Given the description of an element on the screen output the (x, y) to click on. 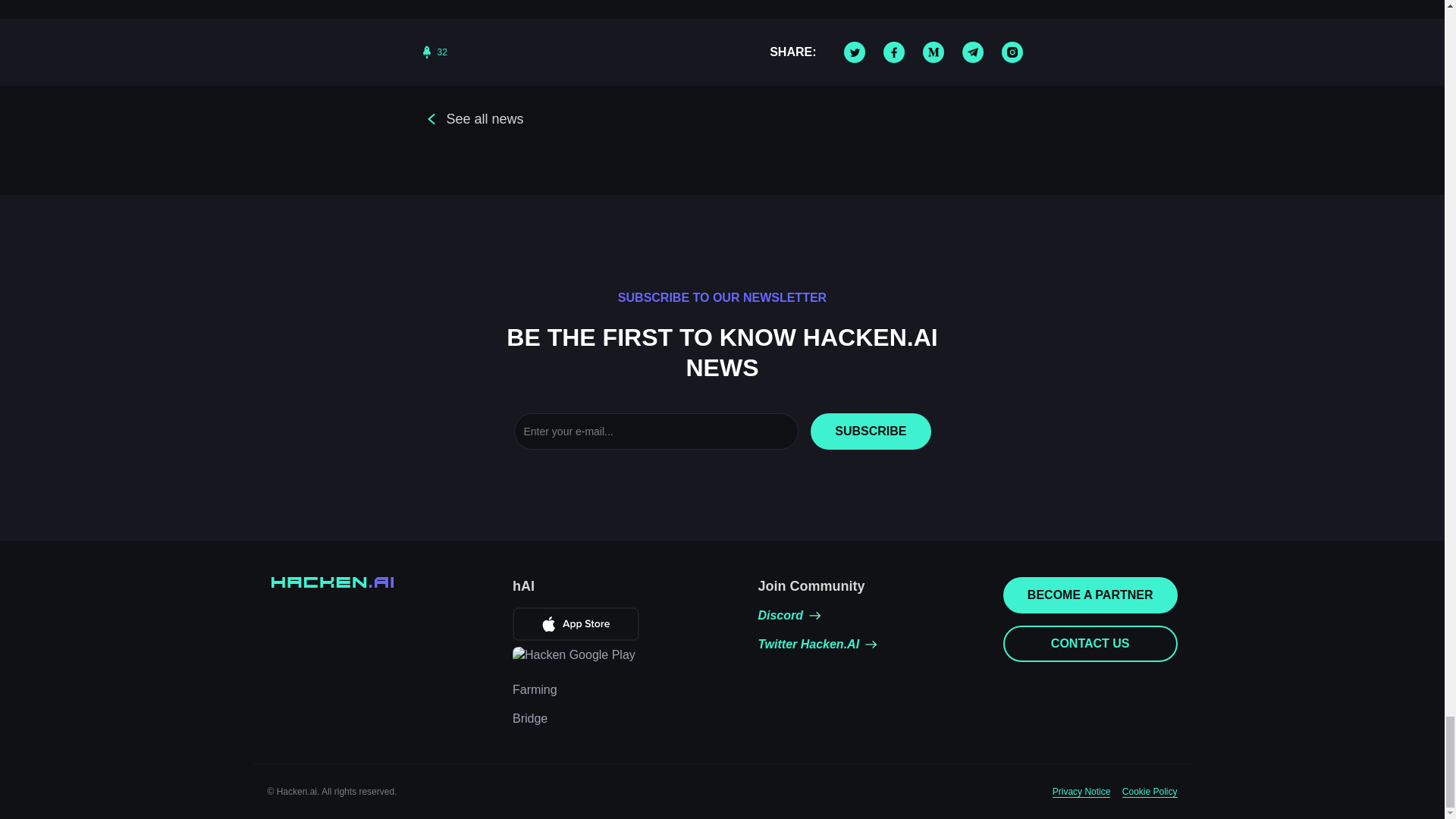
Twitter Hacken.AI (817, 644)
See all news (472, 118)
Bridge (529, 718)
Farming (534, 689)
CONTACT US (1090, 643)
Privacy Notice (1081, 791)
Discord (789, 615)
Subscribe (870, 431)
BECOME A PARTNER (1090, 595)
Subscribe (870, 431)
Cookie Policy (1149, 791)
